Given the description of an element on the screen output the (x, y) to click on. 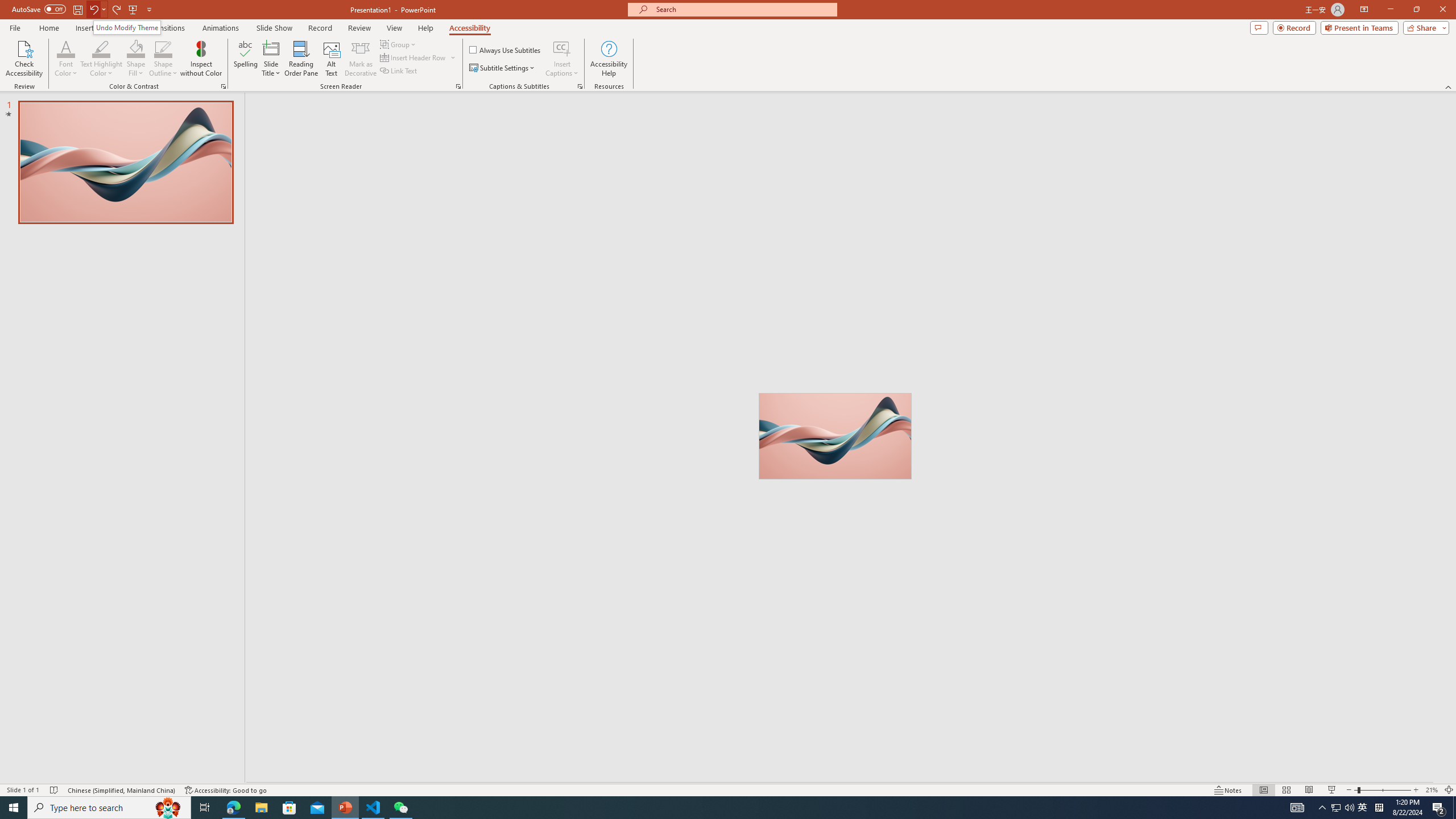
Insert Captions (561, 48)
Insert Captions (561, 58)
Accessibility Checker Accessibility: Good to go (226, 790)
Accessibility Help (608, 58)
Mark as Decorative (360, 58)
